Given the description of an element on the screen output the (x, y) to click on. 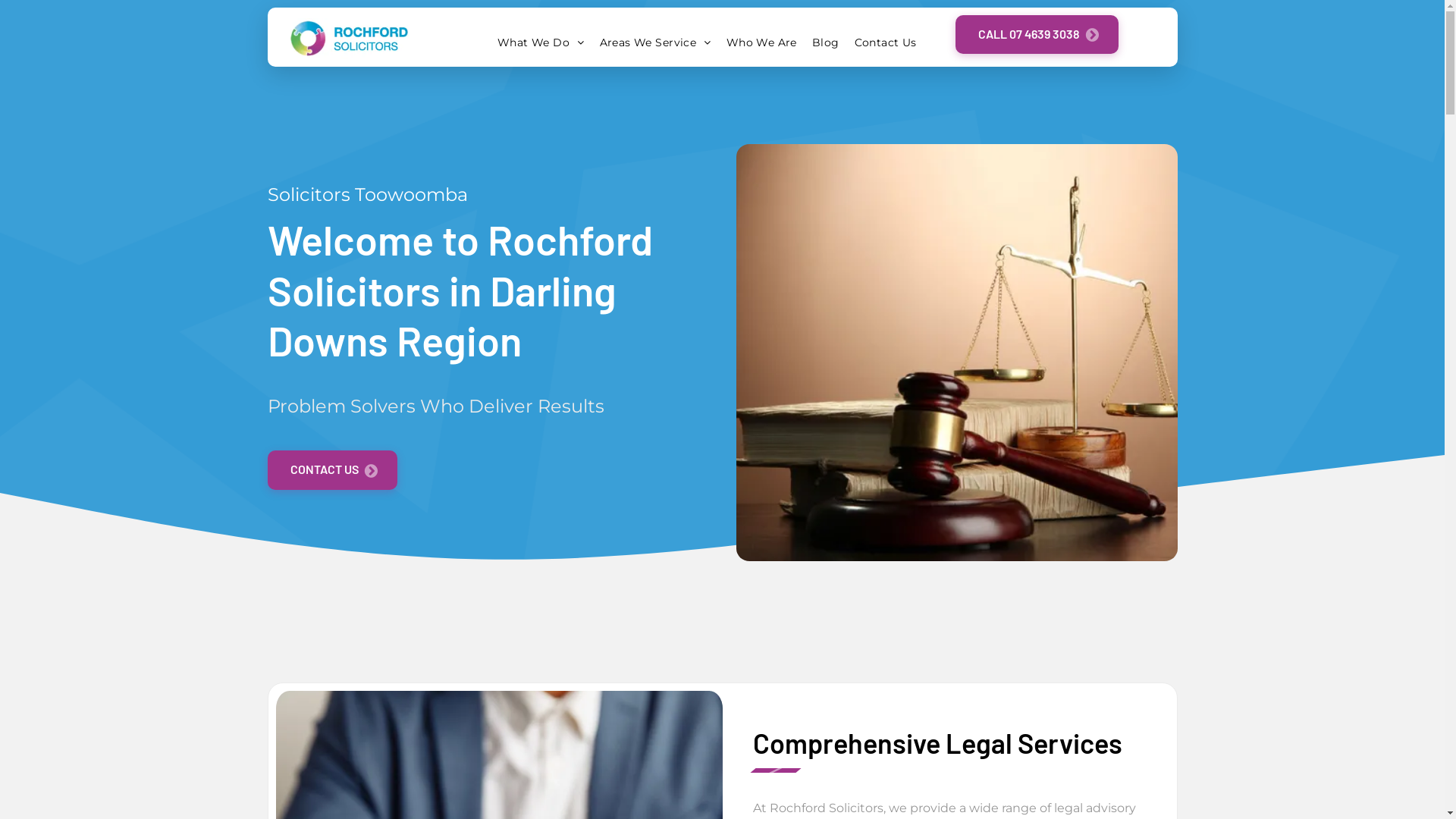
What We Do Element type: text (540, 42)
CALL 07 4639 3038 Element type: text (1036, 34)
Welcome to Rochford Solicitors in Darling Downs Region Element type: hover (348, 38)
Blog Element type: text (825, 42)
Contact Us Element type: text (885, 42)
Who We Are Element type: text (761, 42)
CONTACT US Element type: text (331, 469)
Areas We Service Element type: text (655, 42)
